Given the description of an element on the screen output the (x, y) to click on. 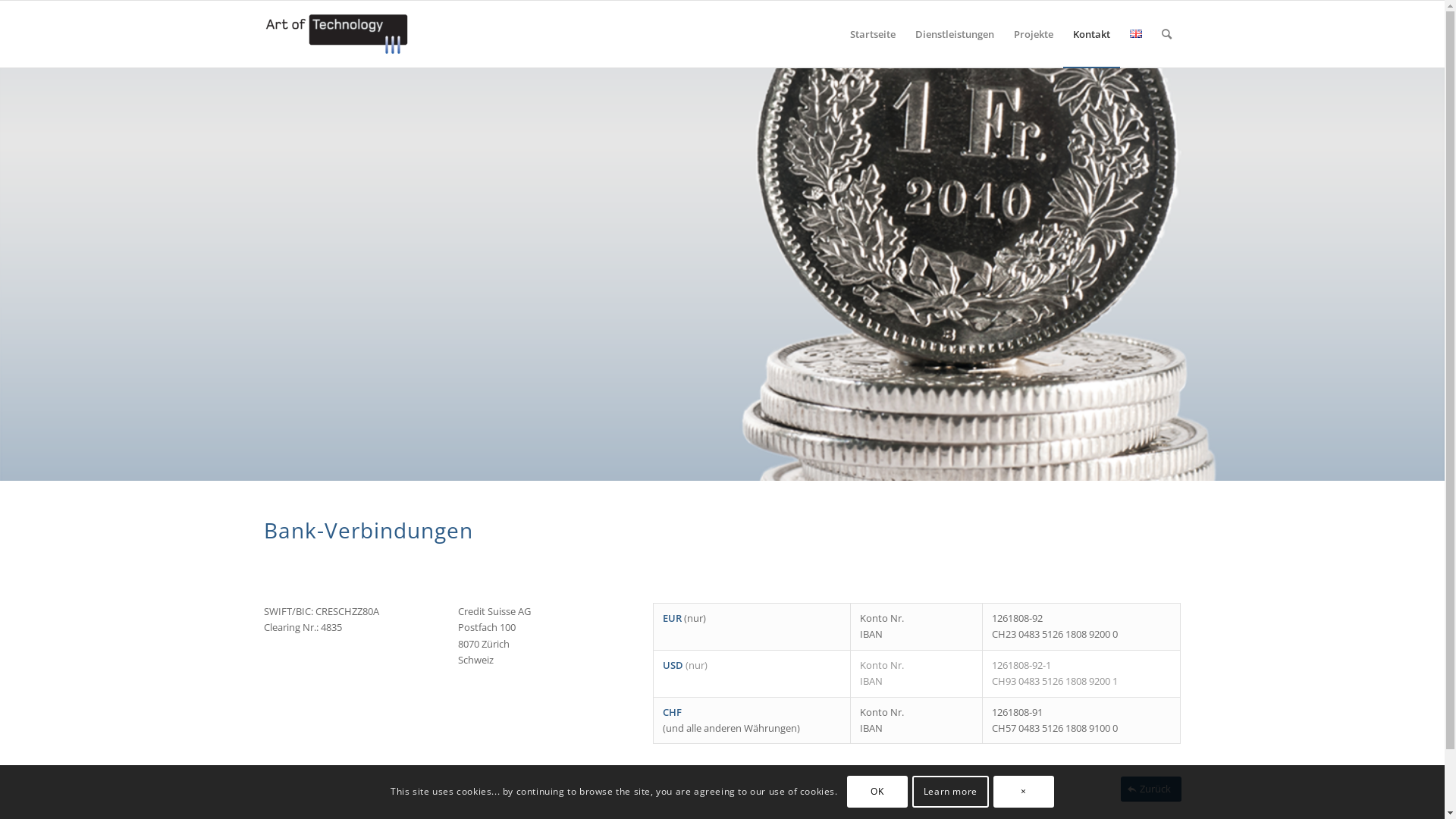
Learn more Element type: text (950, 791)
Projekte Element type: text (1033, 33)
Kontakt Element type: text (1091, 33)
Bank Details Element type: hover (722, 273)
Dienstleistungen Element type: text (954, 33)
OK Element type: text (877, 791)
Startseite Element type: text (872, 33)
